Given the description of an element on the screen output the (x, y) to click on. 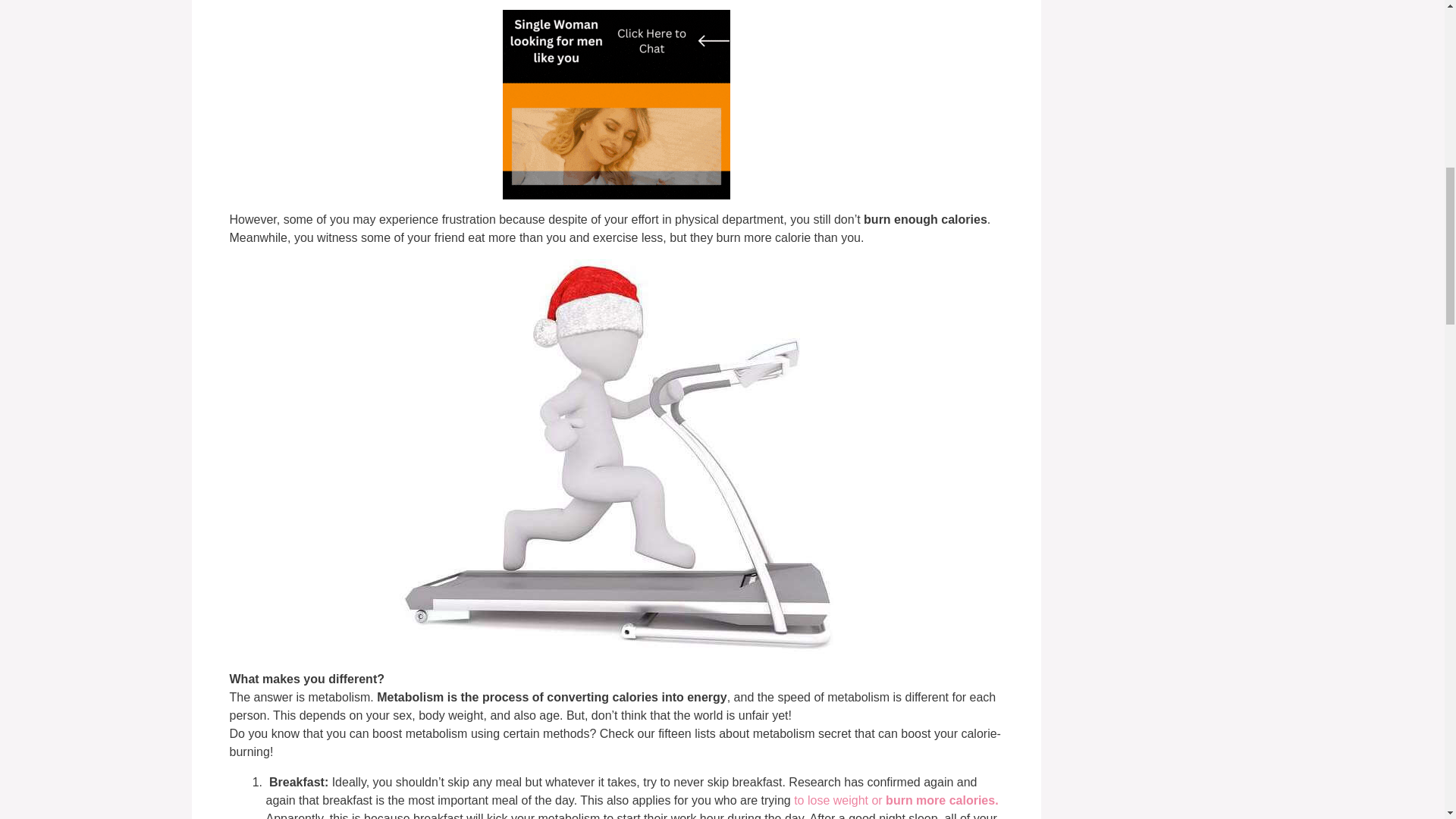
to lose weight or burn more calories. (895, 799)
